Given the description of an element on the screen output the (x, y) to click on. 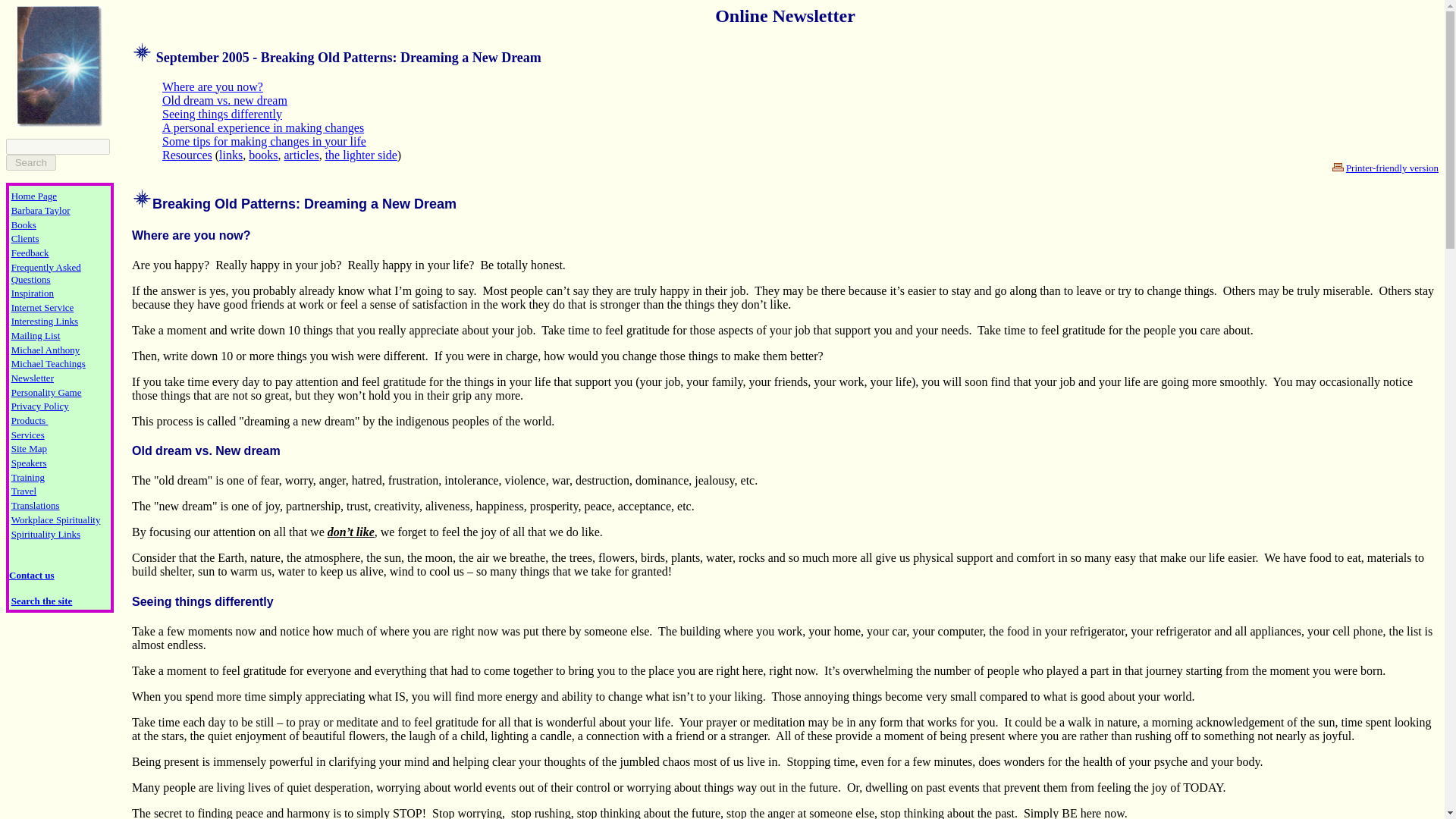
Workplace Spirituality (55, 518)
A personal experience in making changes (262, 127)
links (231, 154)
Where are you now? (212, 86)
Travel (23, 490)
Where are you now? (191, 235)
Seeing things differently (221, 113)
Translations (35, 505)
Services (28, 433)
Newsletter (32, 377)
